Given the description of an element on the screen output the (x, y) to click on. 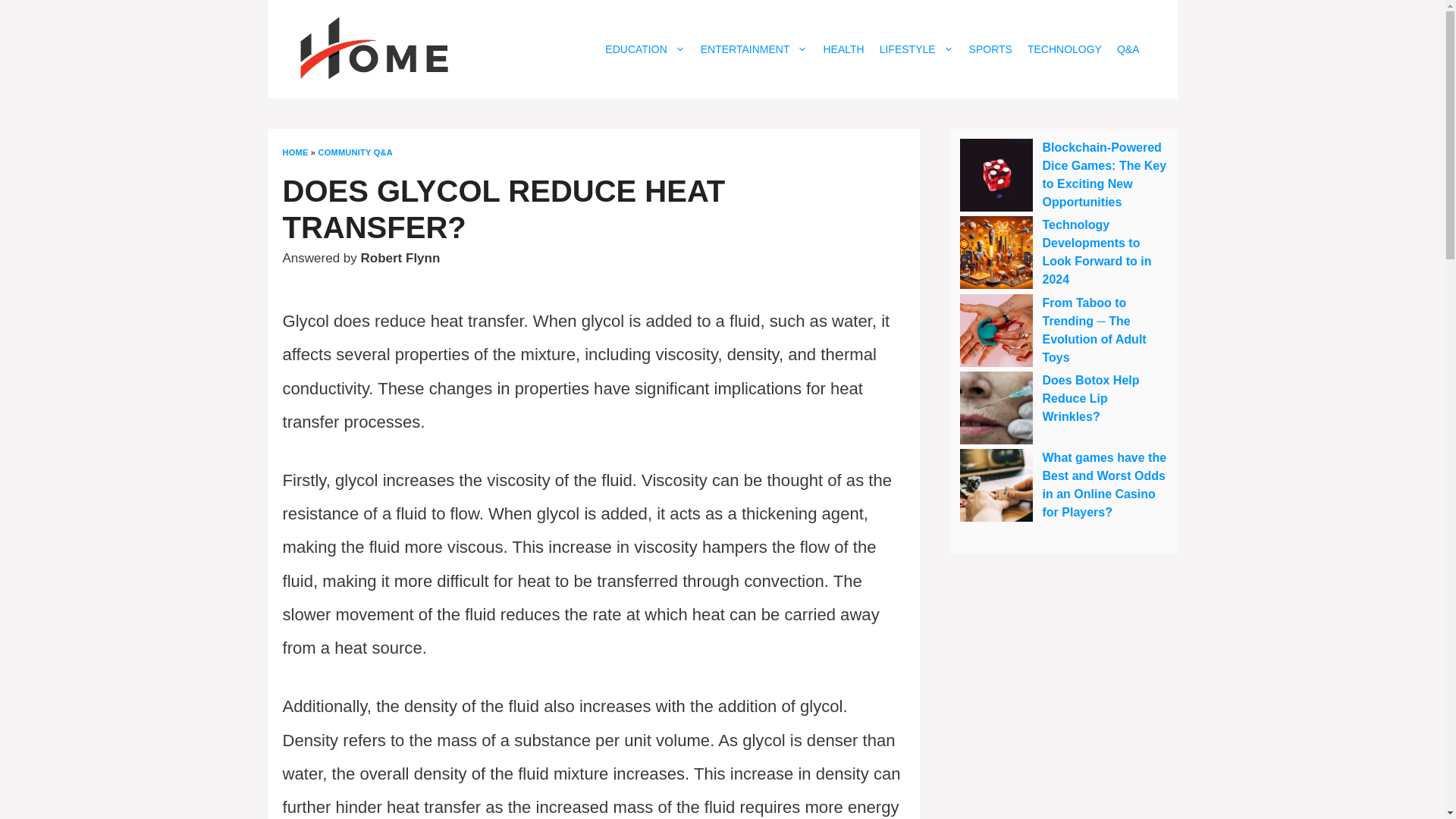
HEALTH (842, 48)
SPORTS (990, 48)
TECHNOLOGY (1064, 48)
Technology Developments to Look Forward to in 2024 2 (995, 252)
EDUCATION (644, 48)
ENTERTAINMENT (754, 48)
LIFESTYLE (916, 48)
Does Botox Help Reduce Lip Wrinkles? 4 (995, 407)
